Given the description of an element on the screen output the (x, y) to click on. 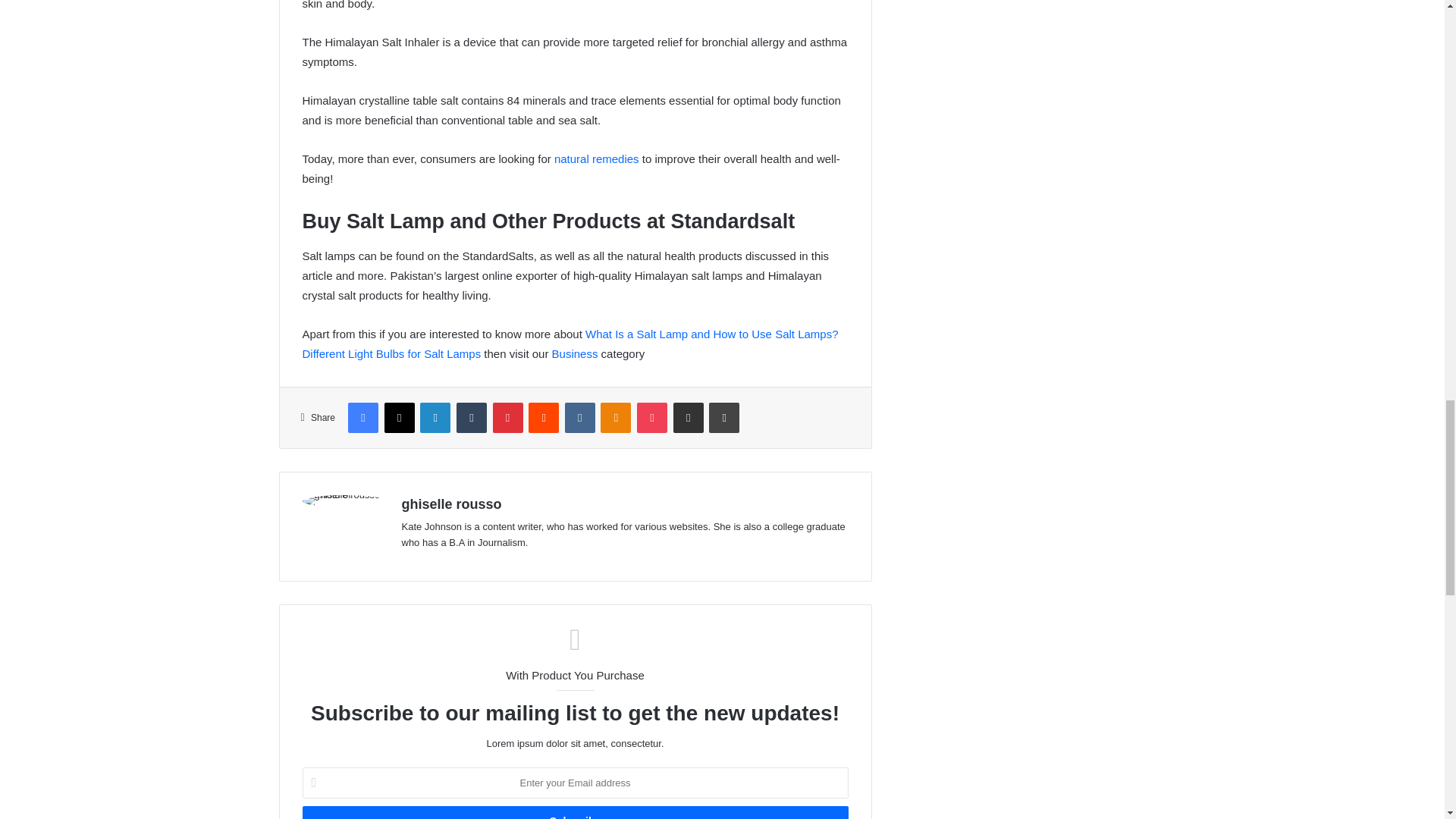
Subscribe (574, 812)
